Given the description of an element on the screen output the (x, y) to click on. 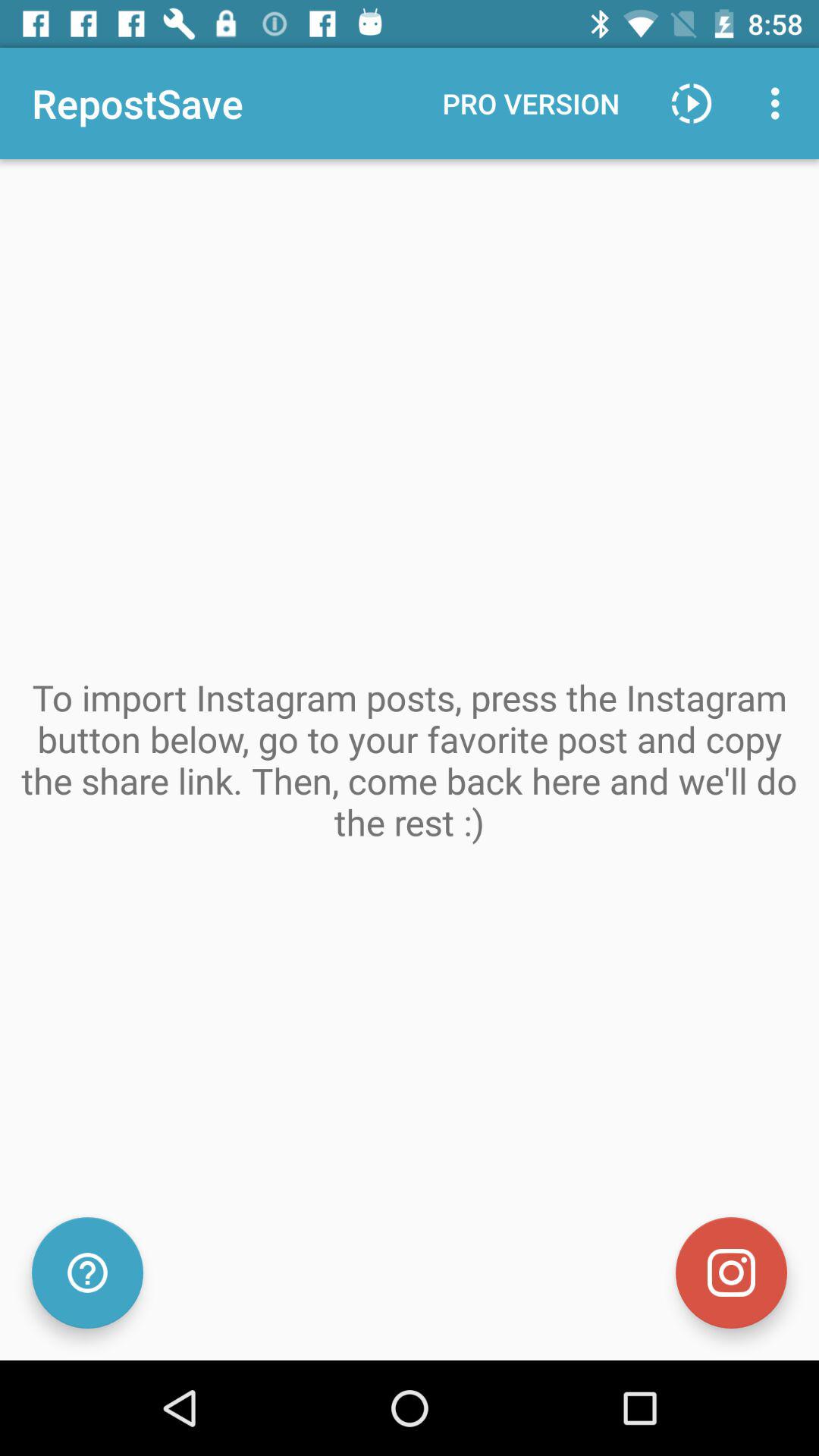
jump until the pro version (530, 103)
